Given the description of an element on the screen output the (x, y) to click on. 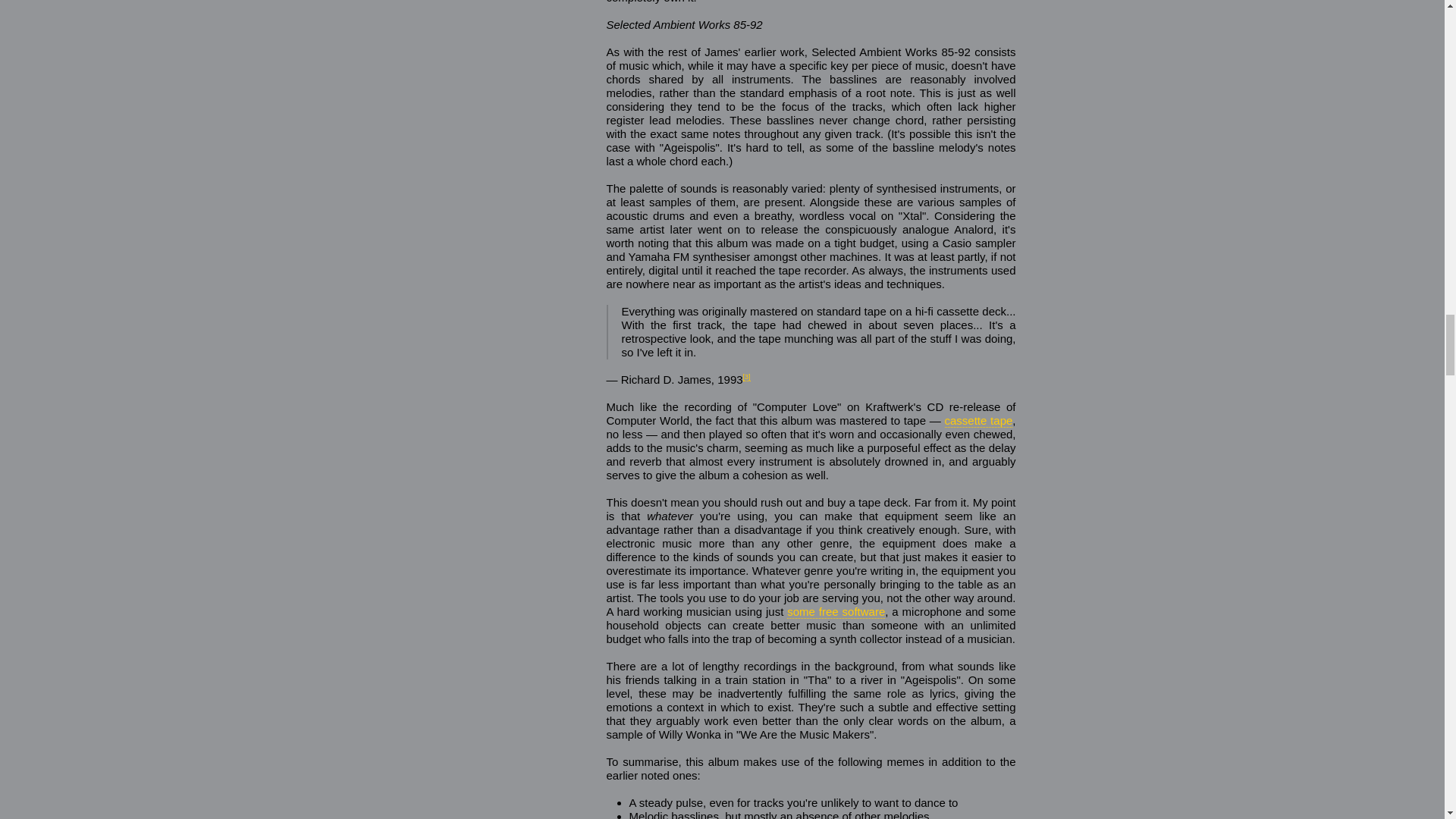
cassette tape (978, 420)
some free software (836, 612)
